Given the description of an element on the screen output the (x, y) to click on. 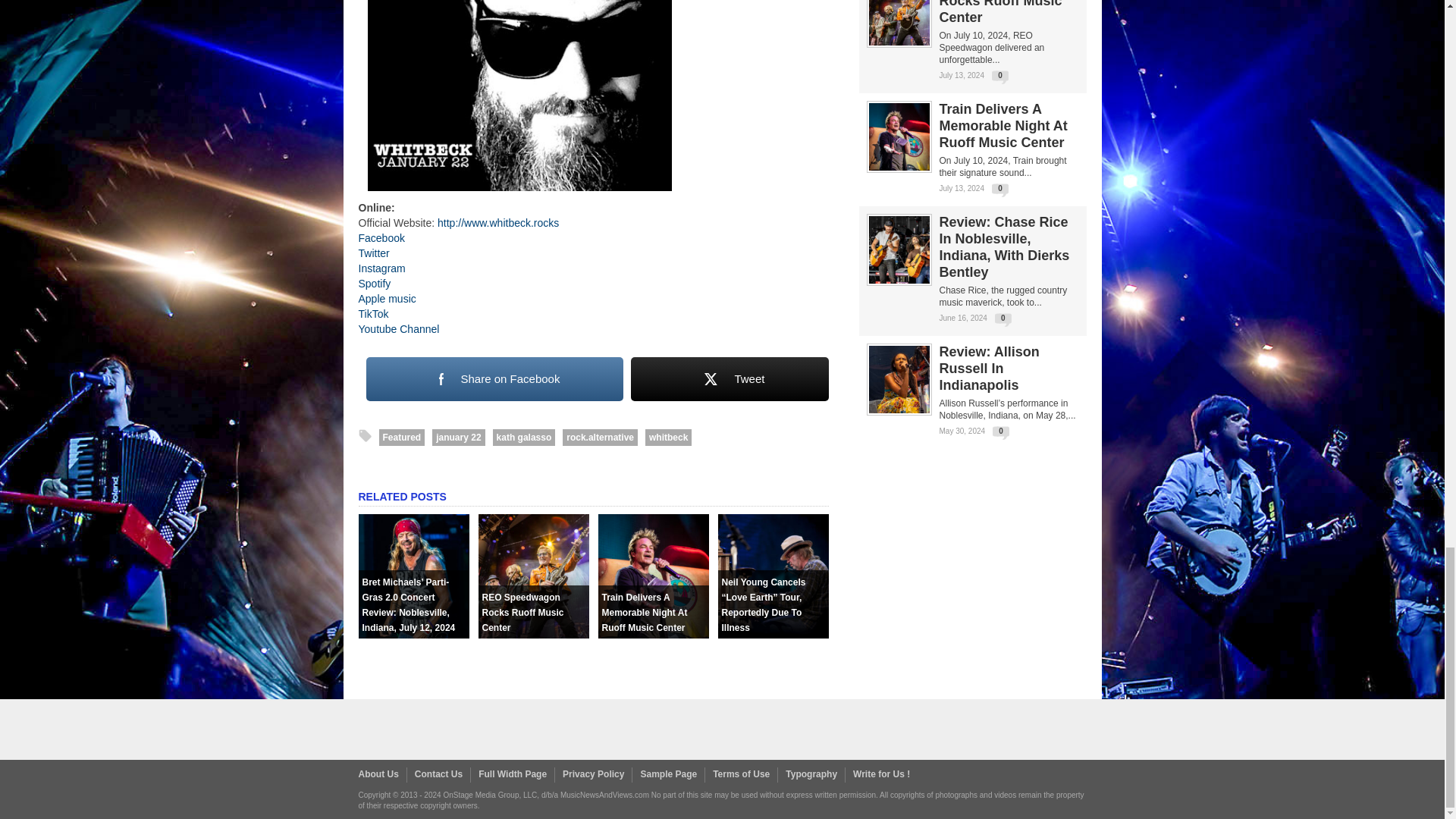
Train Delivers a Memorable Night at Ruoff Music Center (651, 634)
REO Speedwagon Rocks Ruoff Music Center (532, 634)
Facebook (381, 237)
